Given the description of an element on the screen output the (x, y) to click on. 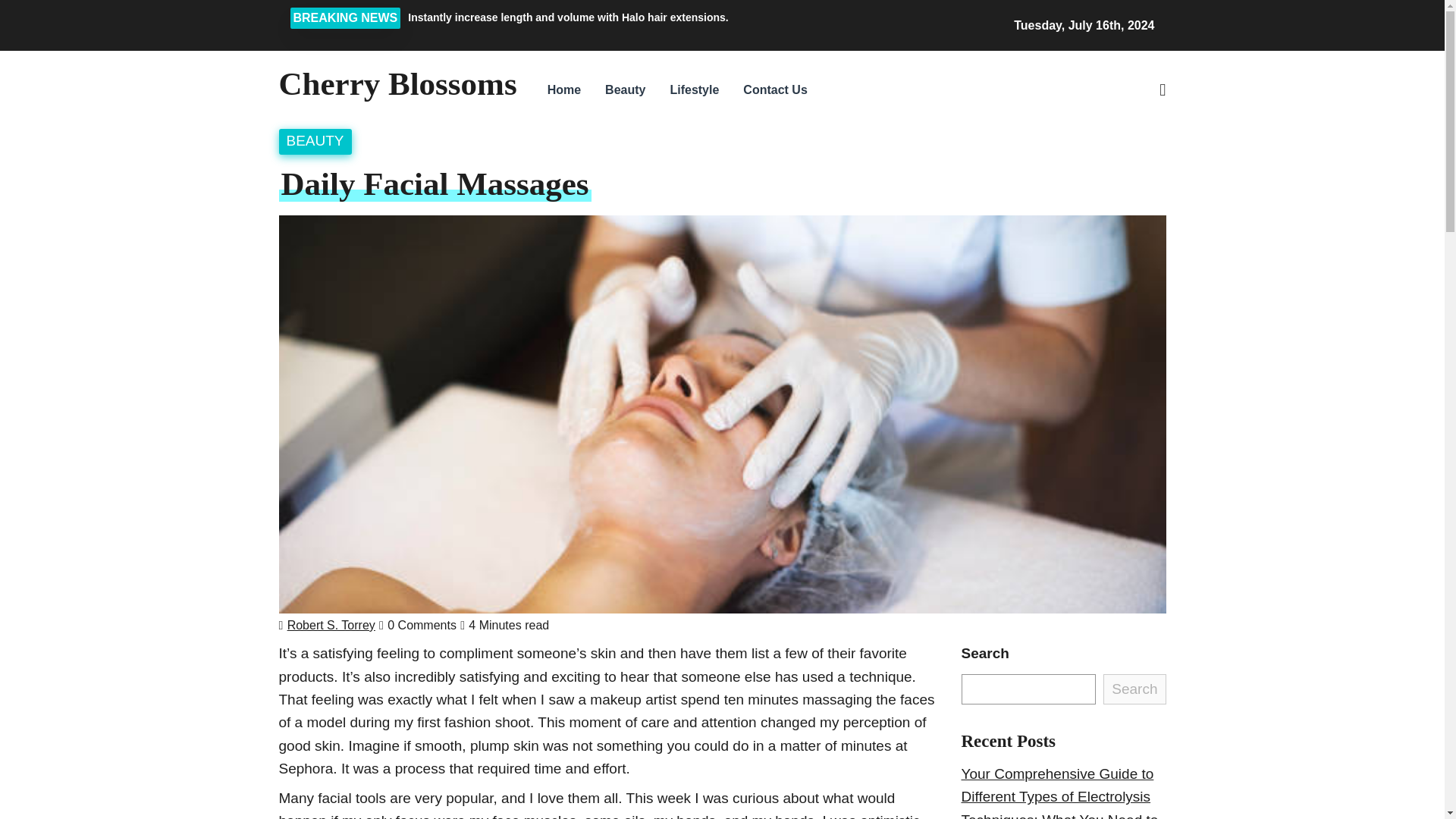
Search (1134, 689)
Robert S. Torrey (330, 625)
Search (1045, 172)
Cherry Blossoms (397, 83)
Home (563, 89)
BEAUTY (314, 140)
Lifestyle (694, 89)
Contact Us (774, 89)
Beauty (625, 89)
